Given the description of an element on the screen output the (x, y) to click on. 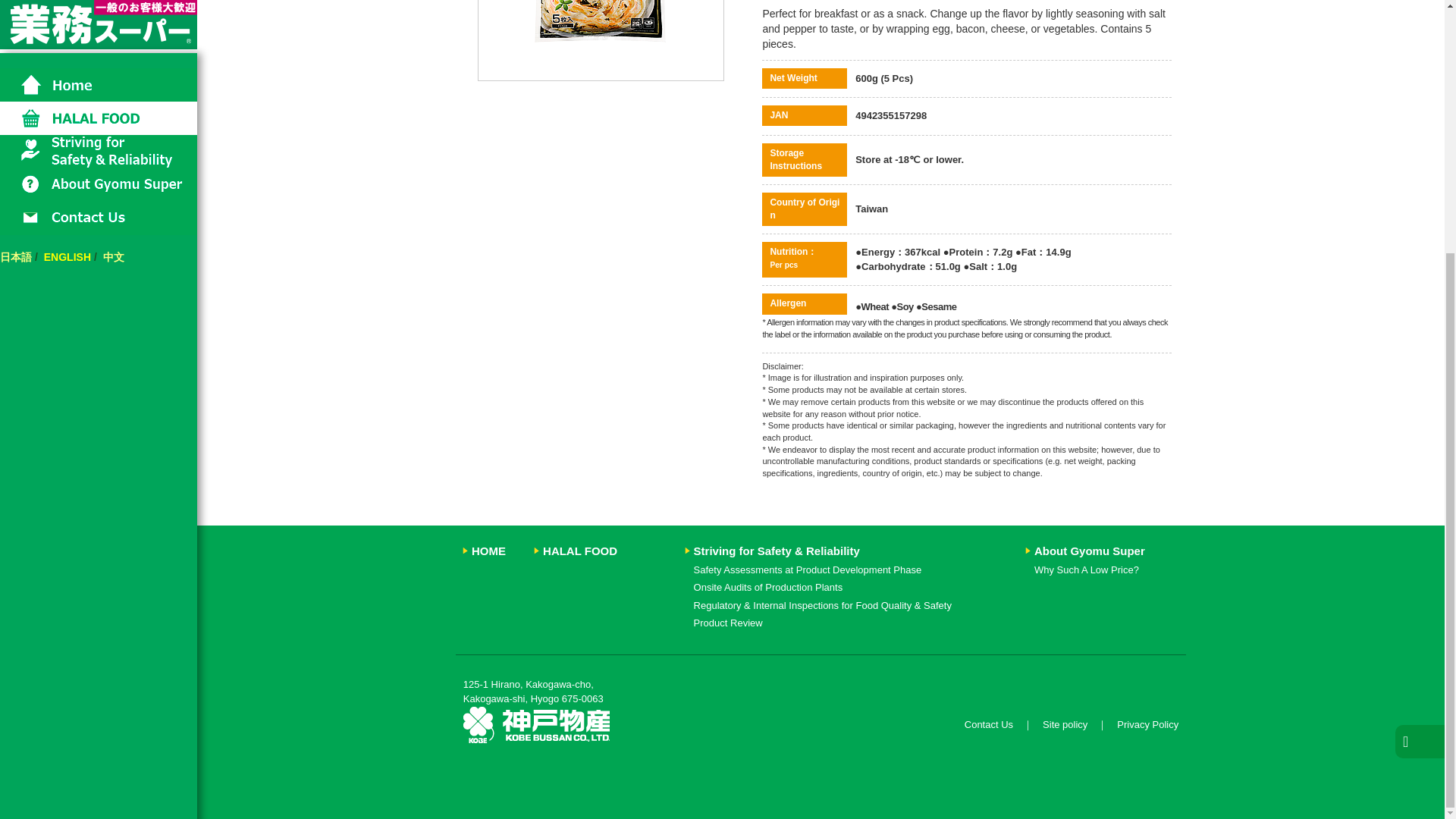
HOME (488, 550)
Contact Us (988, 724)
Site policy (1064, 724)
About Gyomu Super (1088, 550)
Why Such A Low Price? (1085, 569)
Privacy Policy (1146, 724)
Onsite Audits of Production Plants (768, 586)
Safety Assessments at Product Development Phase (807, 569)
Product Review (728, 622)
HALAL FOOD (580, 550)
